Given the description of an element on the screen output the (x, y) to click on. 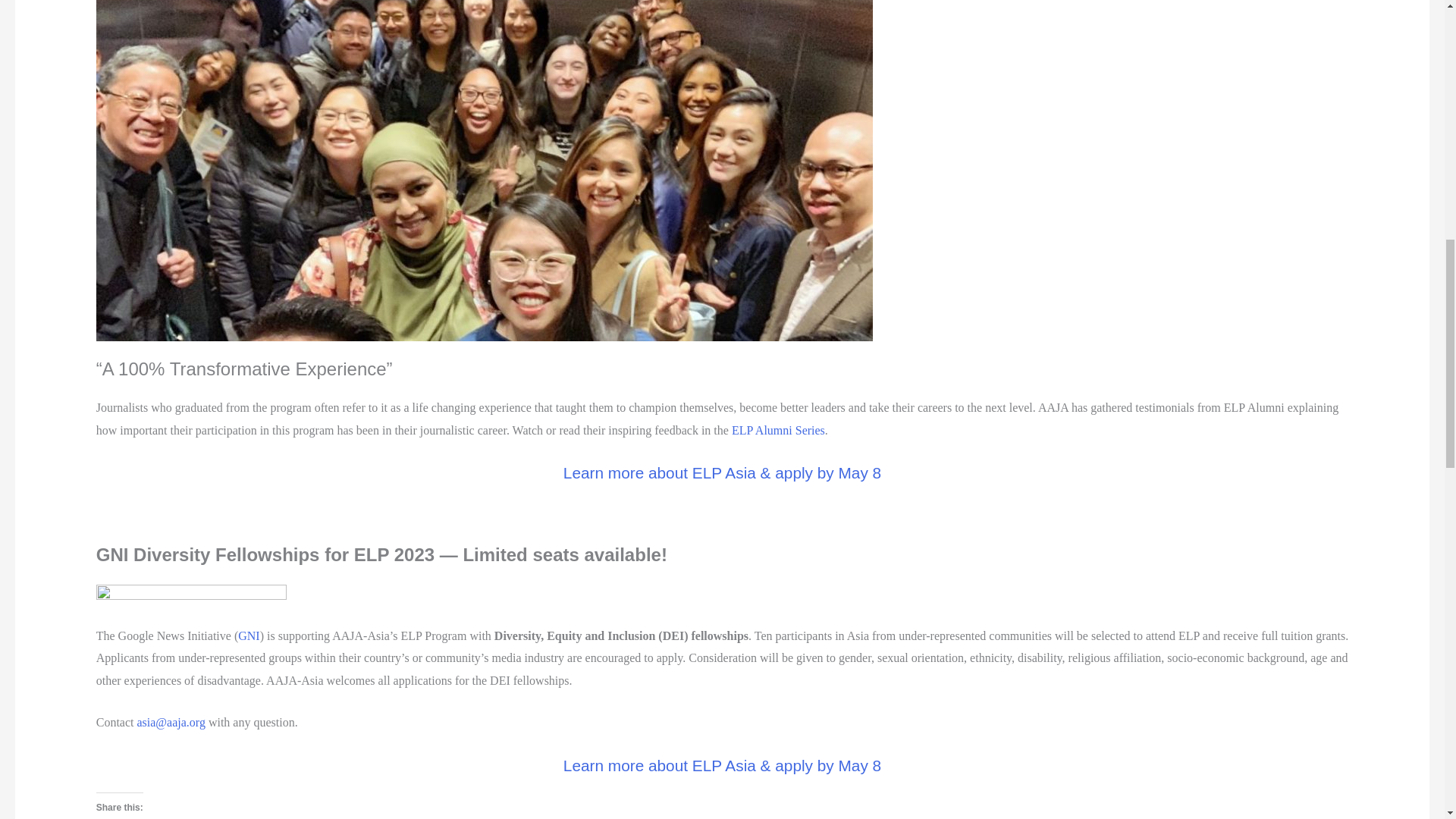
ELP Alumni Series (778, 430)
